Given the description of an element on the screen output the (x, y) to click on. 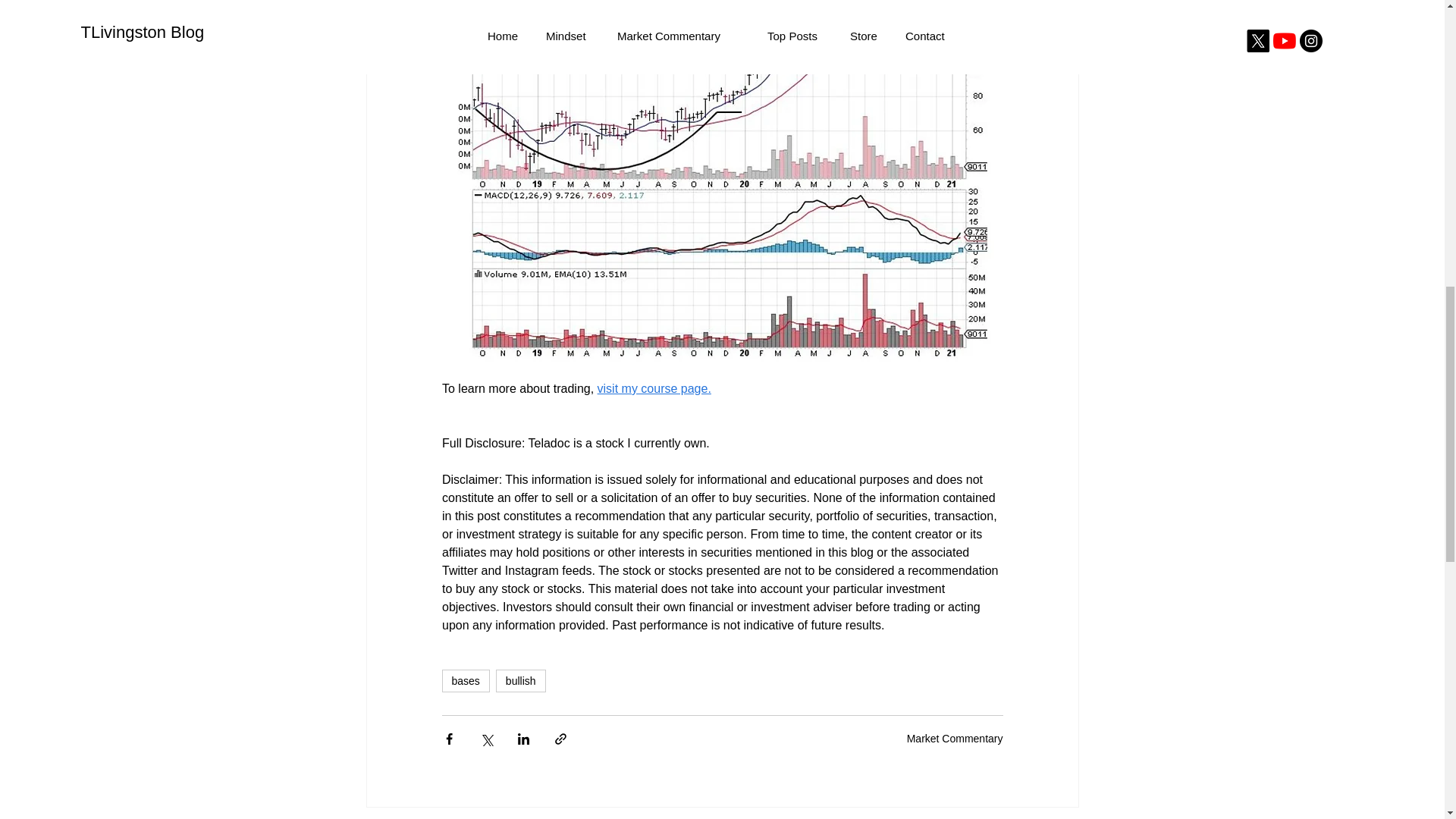
Market Commentary (955, 738)
bullish (521, 680)
bases (465, 680)
visit my course page. (653, 388)
